Given the description of an element on the screen output the (x, y) to click on. 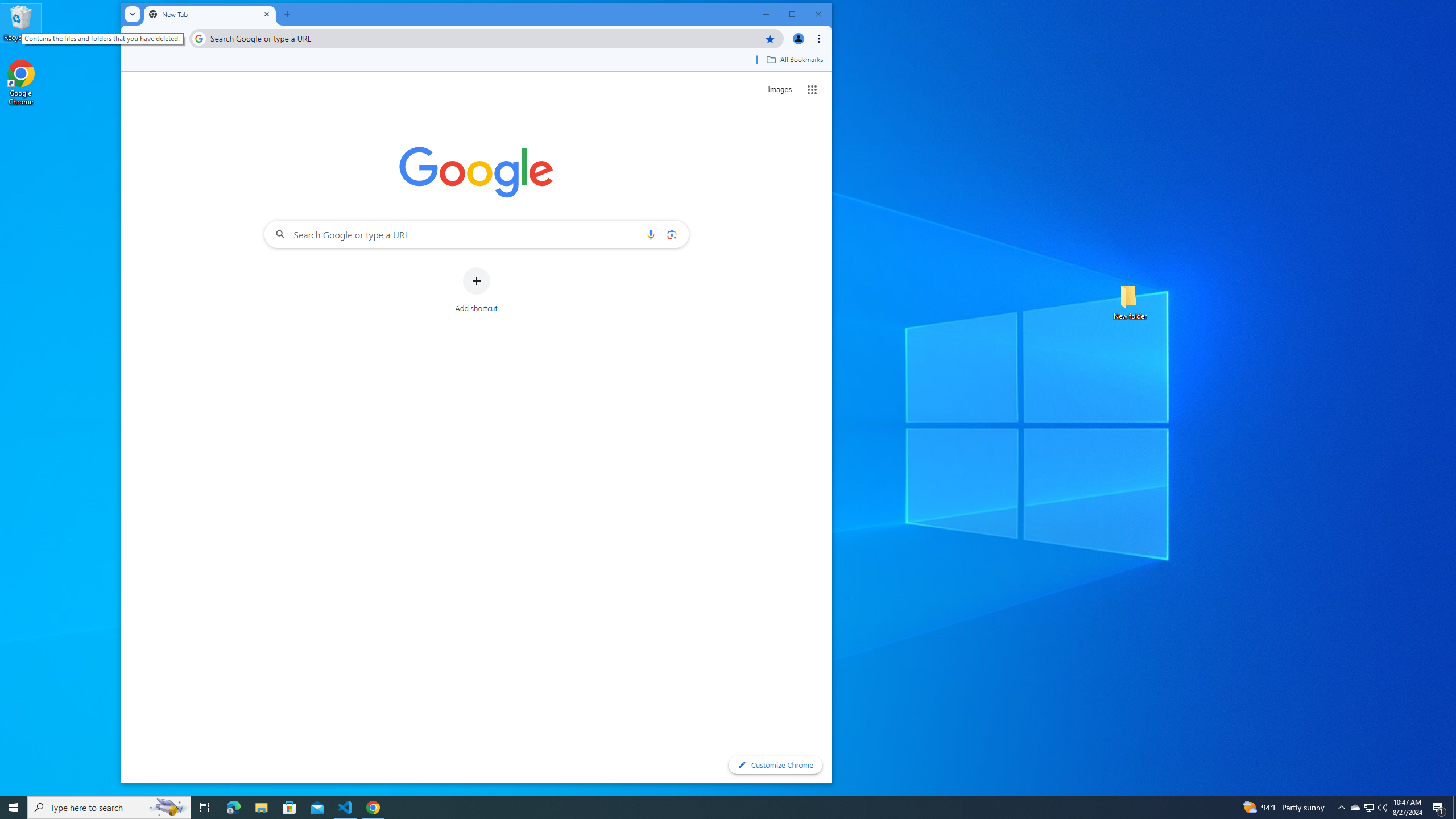
New folder (1130, 301)
Recycle Bin (21, 22)
Google Chrome (21, 82)
